Given the description of an element on the screen output the (x, y) to click on. 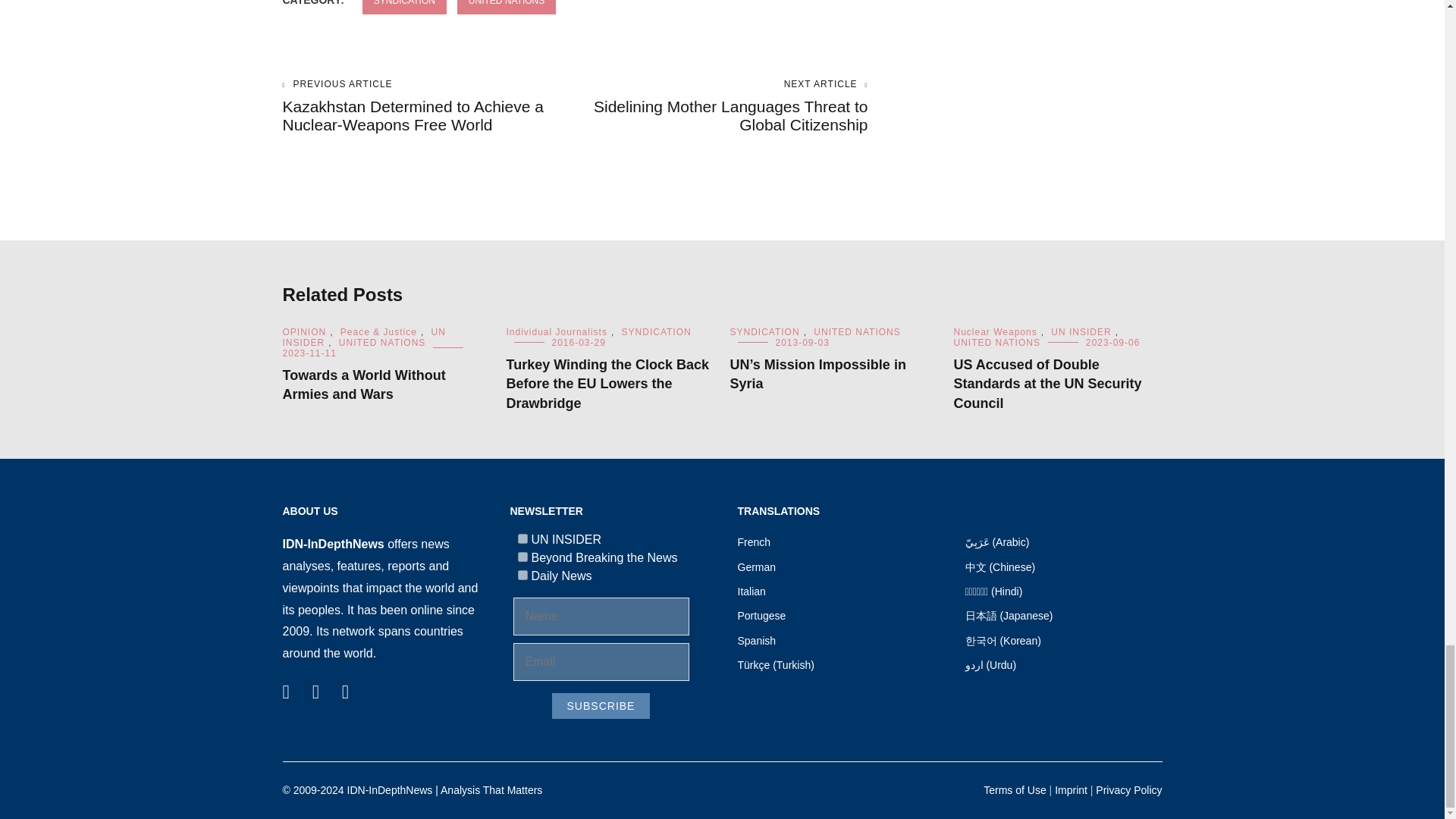
10 (521, 574)
7 (521, 538)
9 (521, 556)
